Given the description of an element on the screen output the (x, y) to click on. 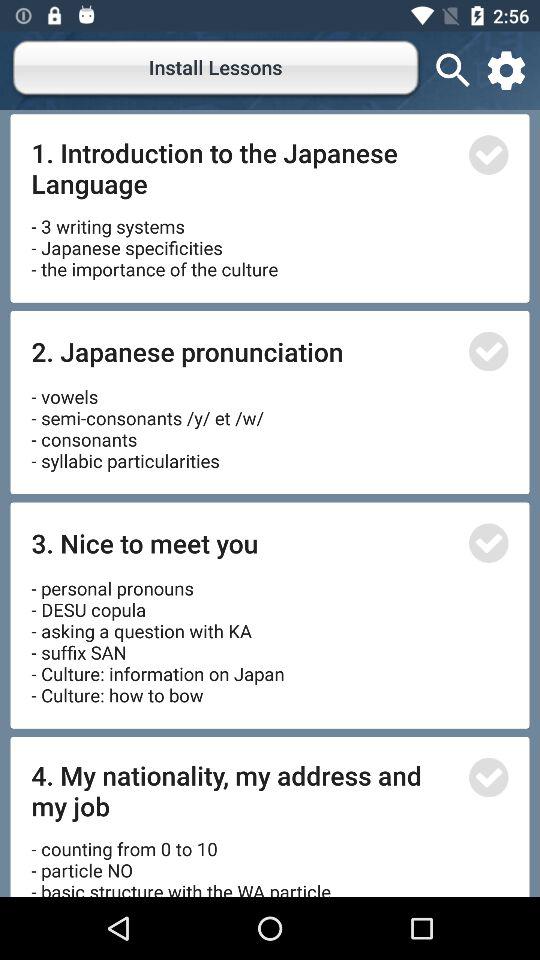
swipe to 3 nice to (243, 542)
